Given the description of an element on the screen output the (x, y) to click on. 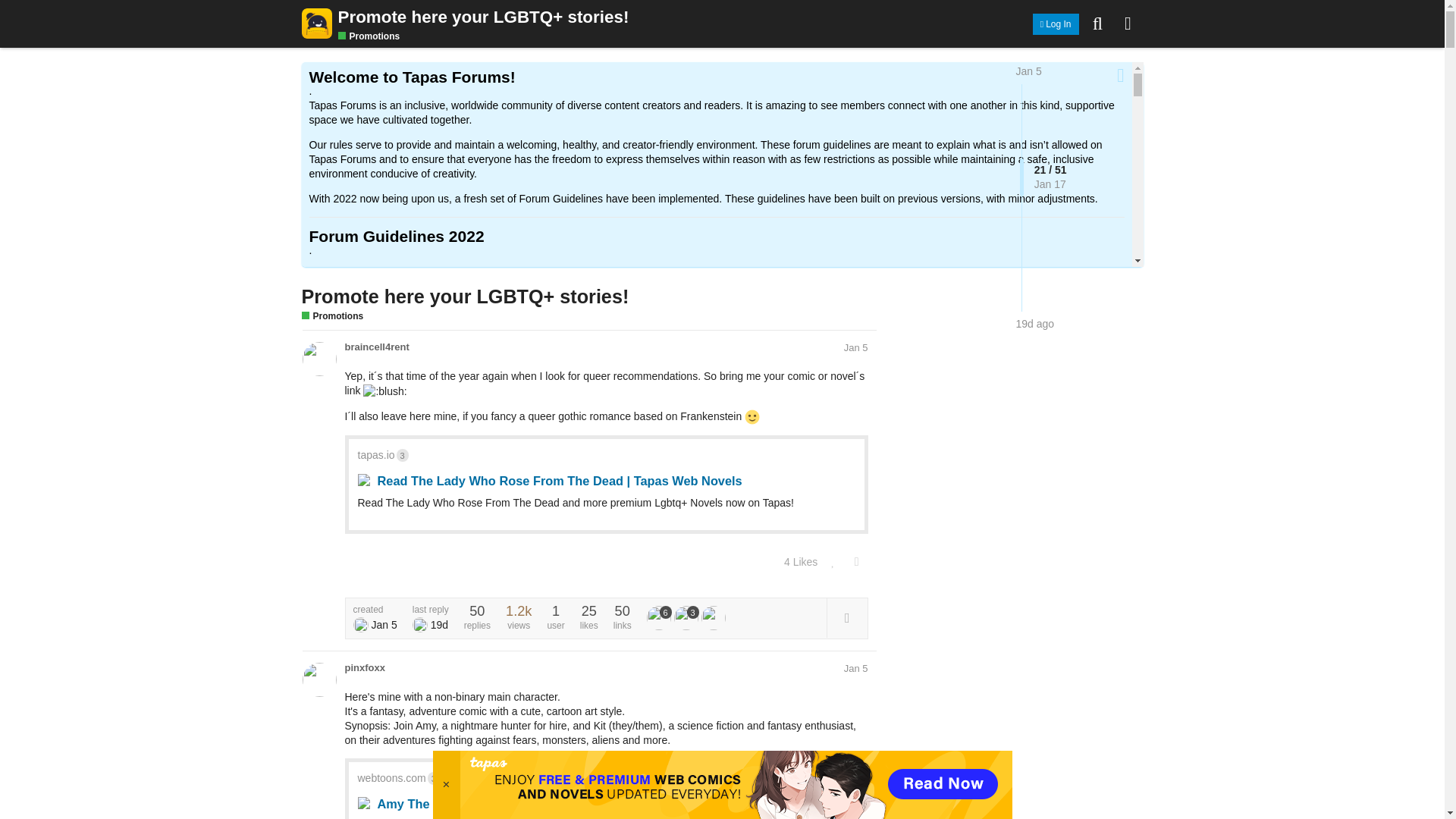
Promotions (332, 316)
Jan 5, 2024 8:35 pm (855, 347)
3 clicks (402, 454)
Promotions (368, 36)
search topics, posts, users, or categories (1098, 22)
Log In (1055, 24)
19d ago (1035, 323)
Jan 5 (1029, 70)
toggle topic details (847, 617)
Jan 5 (855, 347)
